Given the description of an element on the screen output the (x, y) to click on. 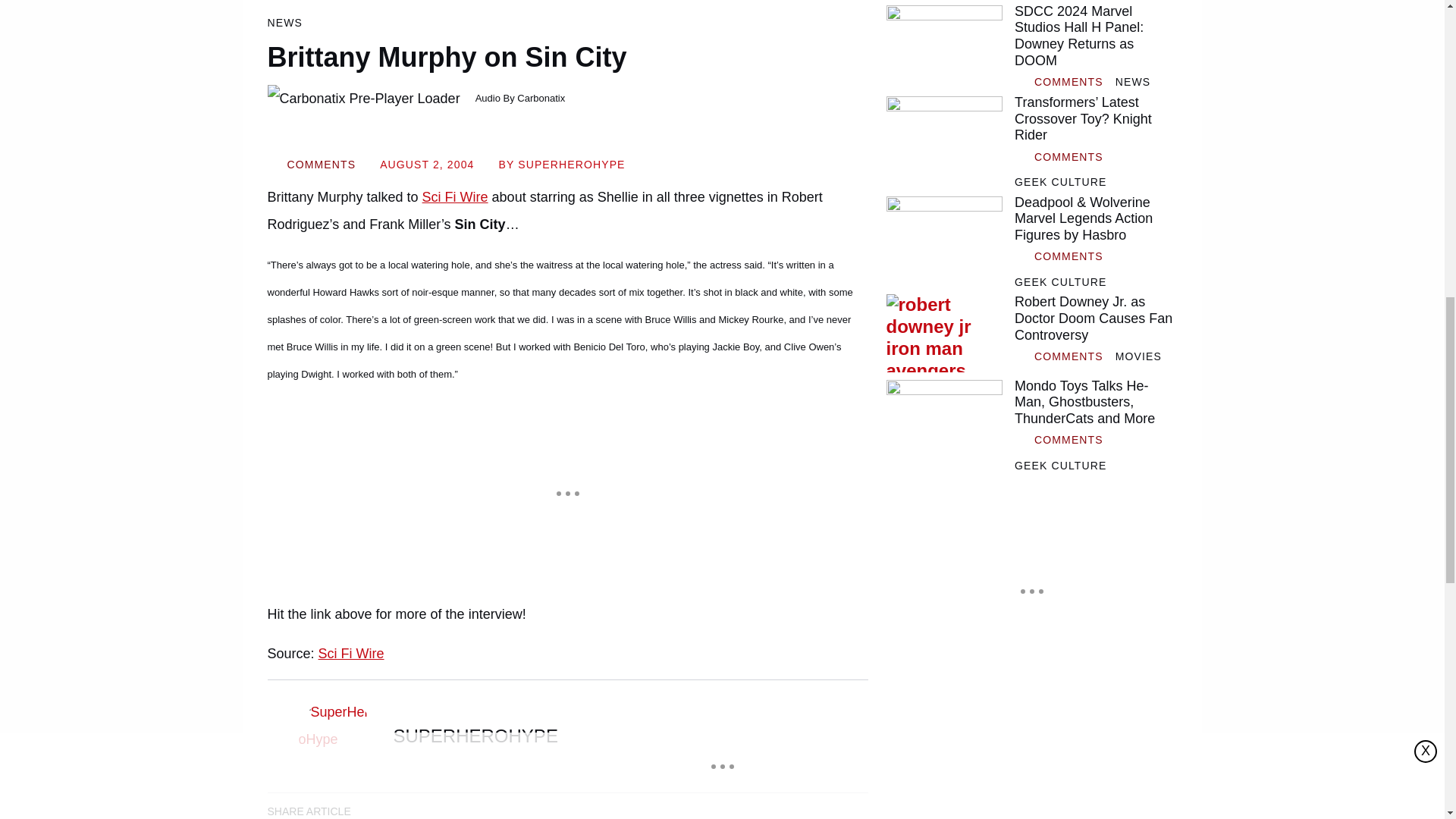
GEEK CULTURE (1060, 182)
SUPERHEROHYPE (475, 735)
Twitter (463, 809)
Robert Downey Jr. as Doctor Doom Causes Fan Controversy (944, 332)
SUPERHEROHYPE (571, 164)
Facebook (377, 809)
NEWS (1132, 82)
Pinterest (505, 809)
LinkedIn (420, 809)
NEWS (283, 22)
Mondo Toys Talks He-Man, Ghostbusters, ThunderCats and More (944, 416)
Sci Fi Wire (351, 653)
Sci Fi Wire (454, 196)
